Given the description of an element on the screen output the (x, y) to click on. 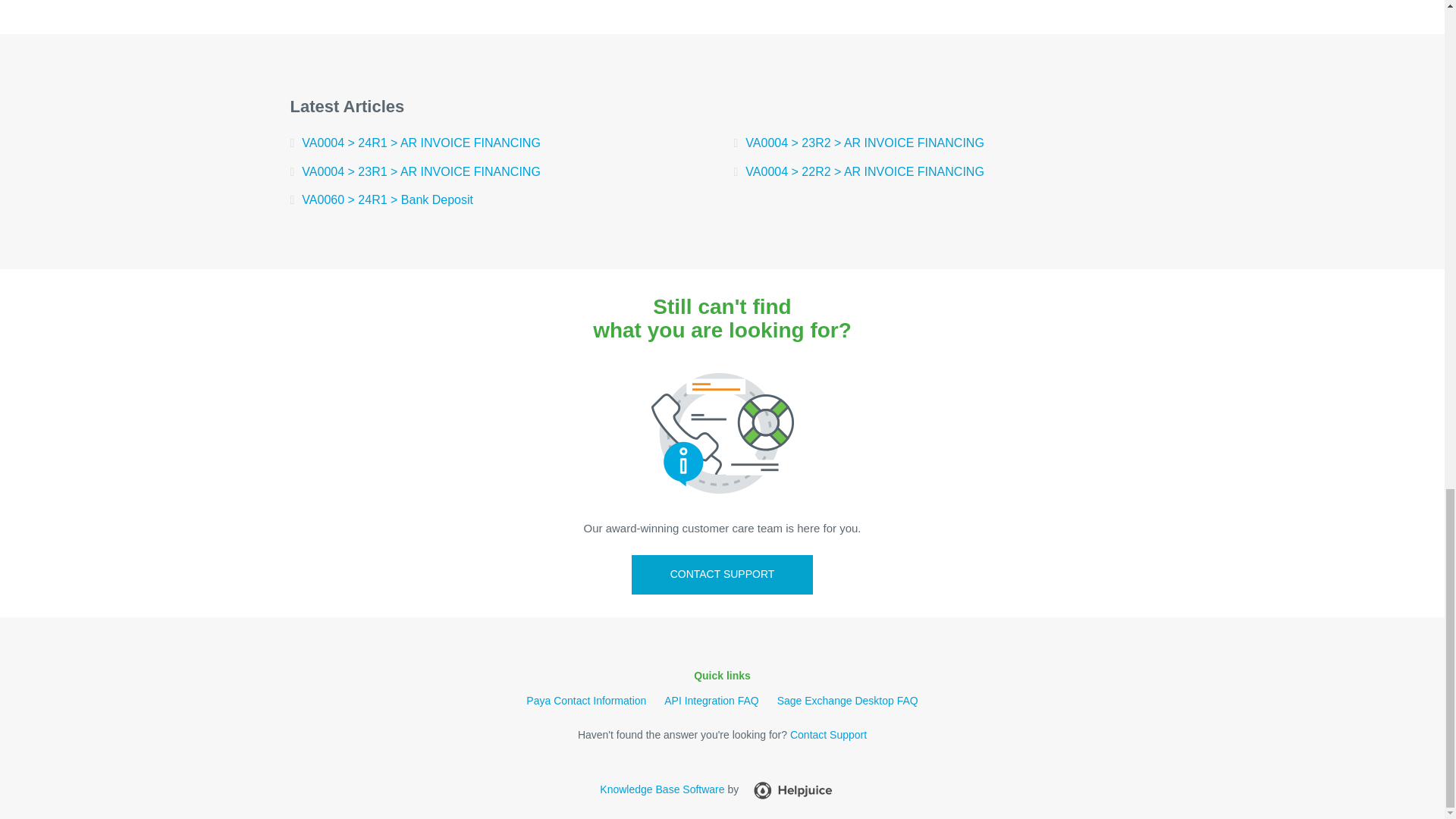
Contact Support (828, 734)
Paya Contact Information (585, 700)
CONTACT SUPPORT (722, 574)
Knowledge Base Software (661, 788)
API Integration FAQ (710, 700)
Sage Exchange Desktop FAQ (847, 700)
